Given the description of an element on the screen output the (x, y) to click on. 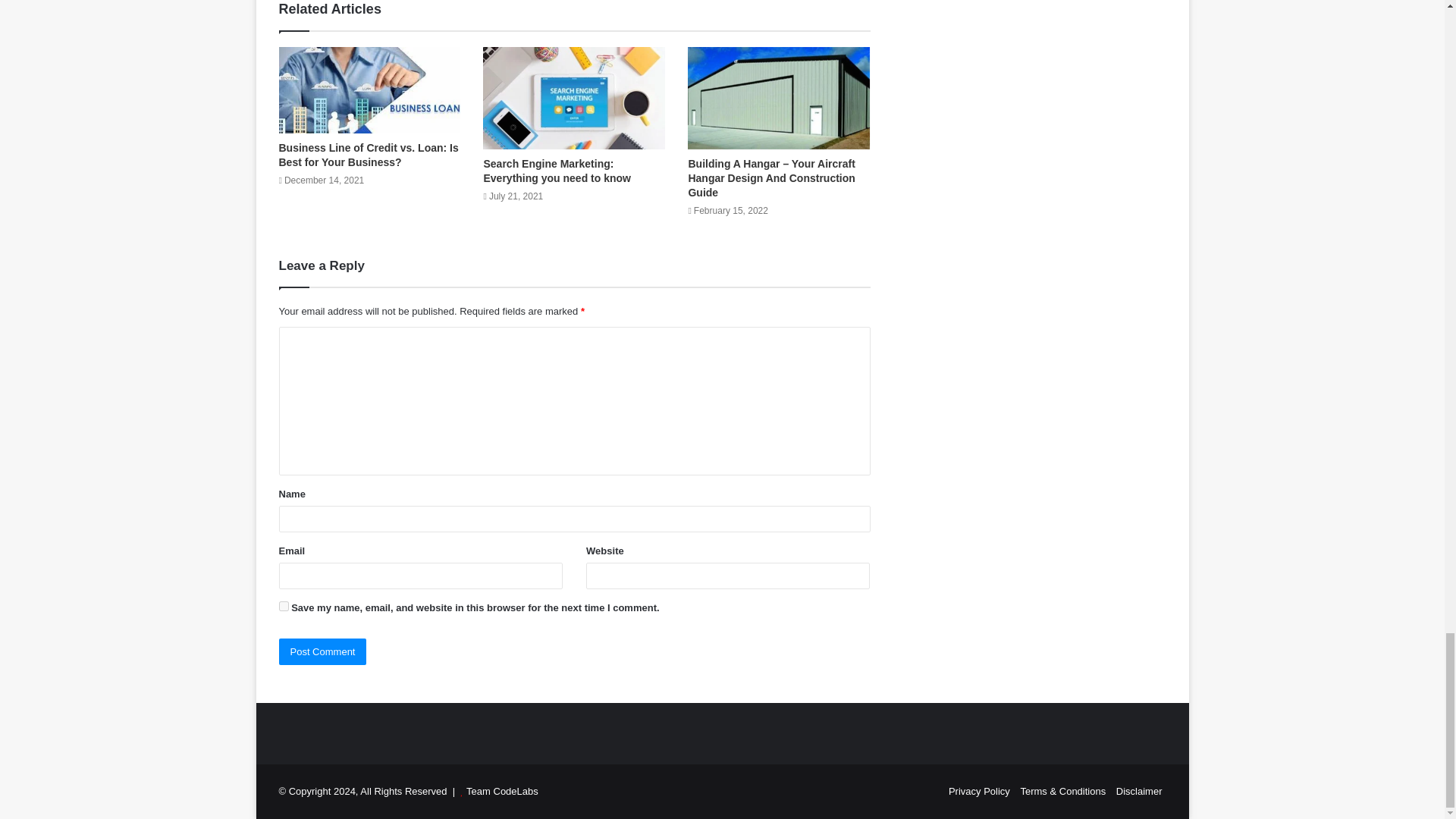
yes (283, 605)
Post Comment (322, 651)
Business Line of Credit vs. Loan: Is Best for Your Business? (368, 154)
